Given the description of an element on the screen output the (x, y) to click on. 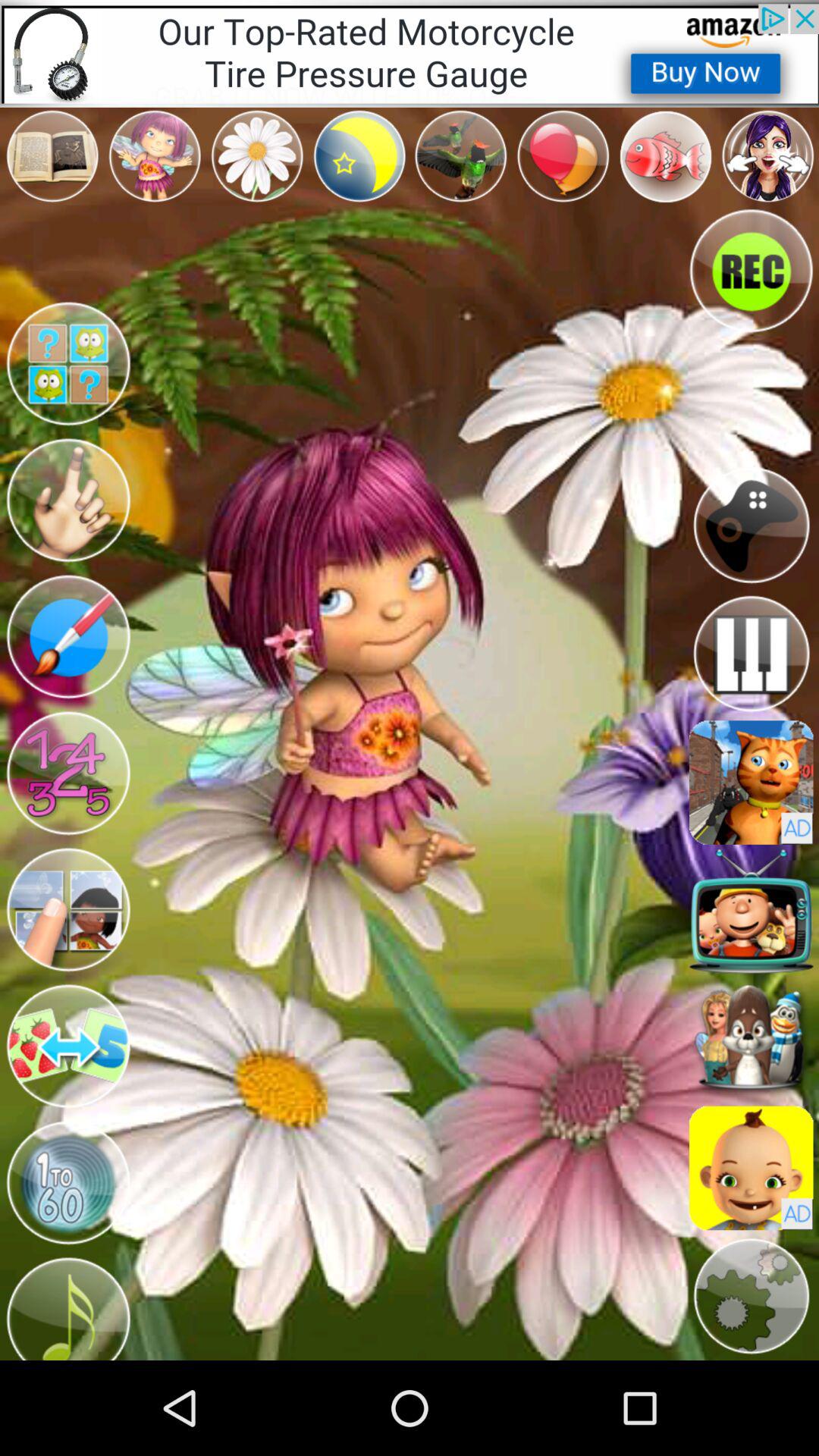
take the use the brush (68, 636)
